Given the description of an element on the screen output the (x, y) to click on. 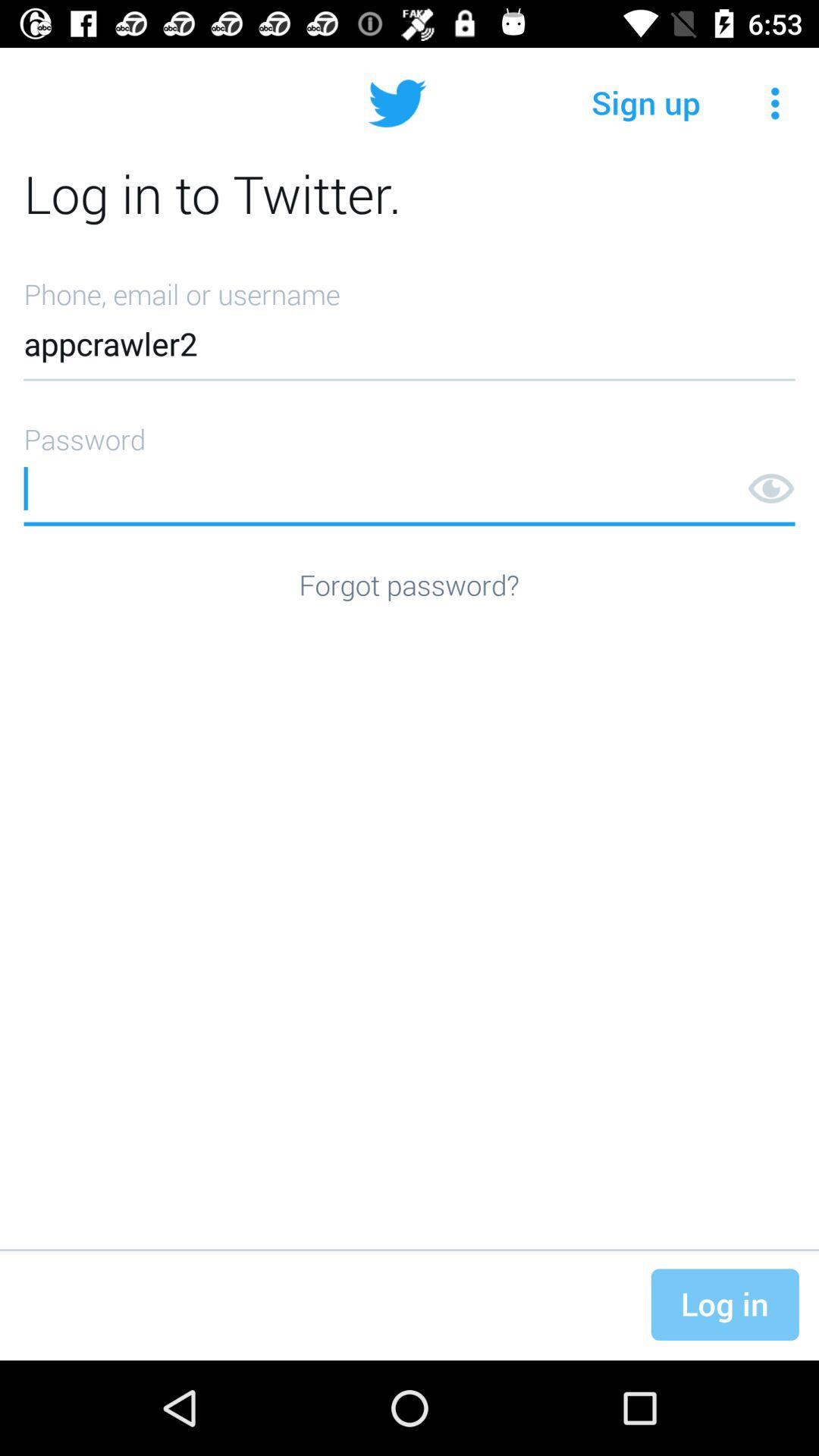
open the item above forgot password? icon (409, 469)
